Given the description of an element on the screen output the (x, y) to click on. 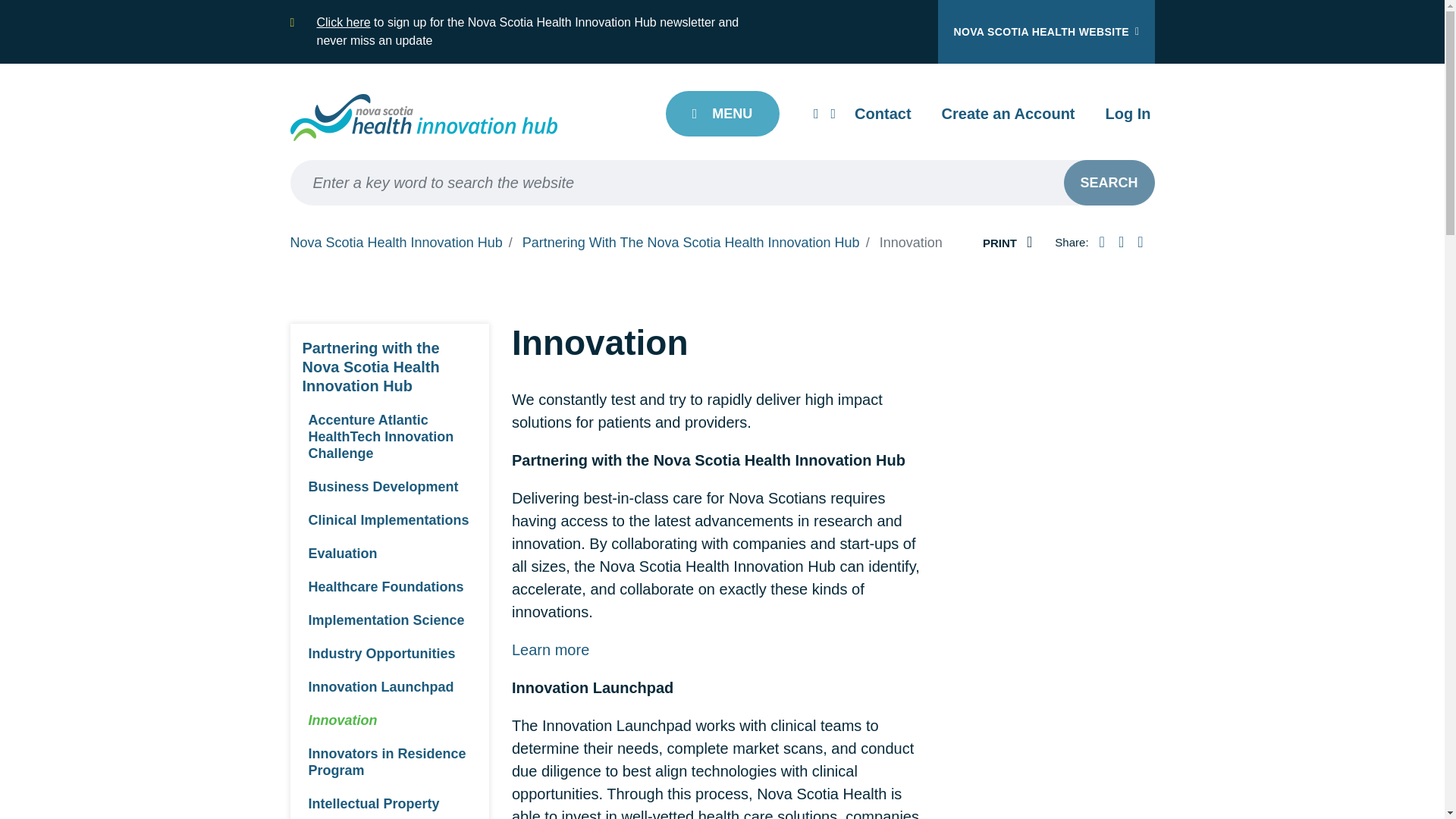
NOVA SCOTIA HEALTH WEBSITE (1045, 31)
Contact the Nova Scotia Health Innovation Hub (882, 113)
MENU (721, 113)
Contact (882, 113)
Create an Account (1008, 113)
Log In (1128, 113)
Click here (344, 21)
